Given the description of an element on the screen output the (x, y) to click on. 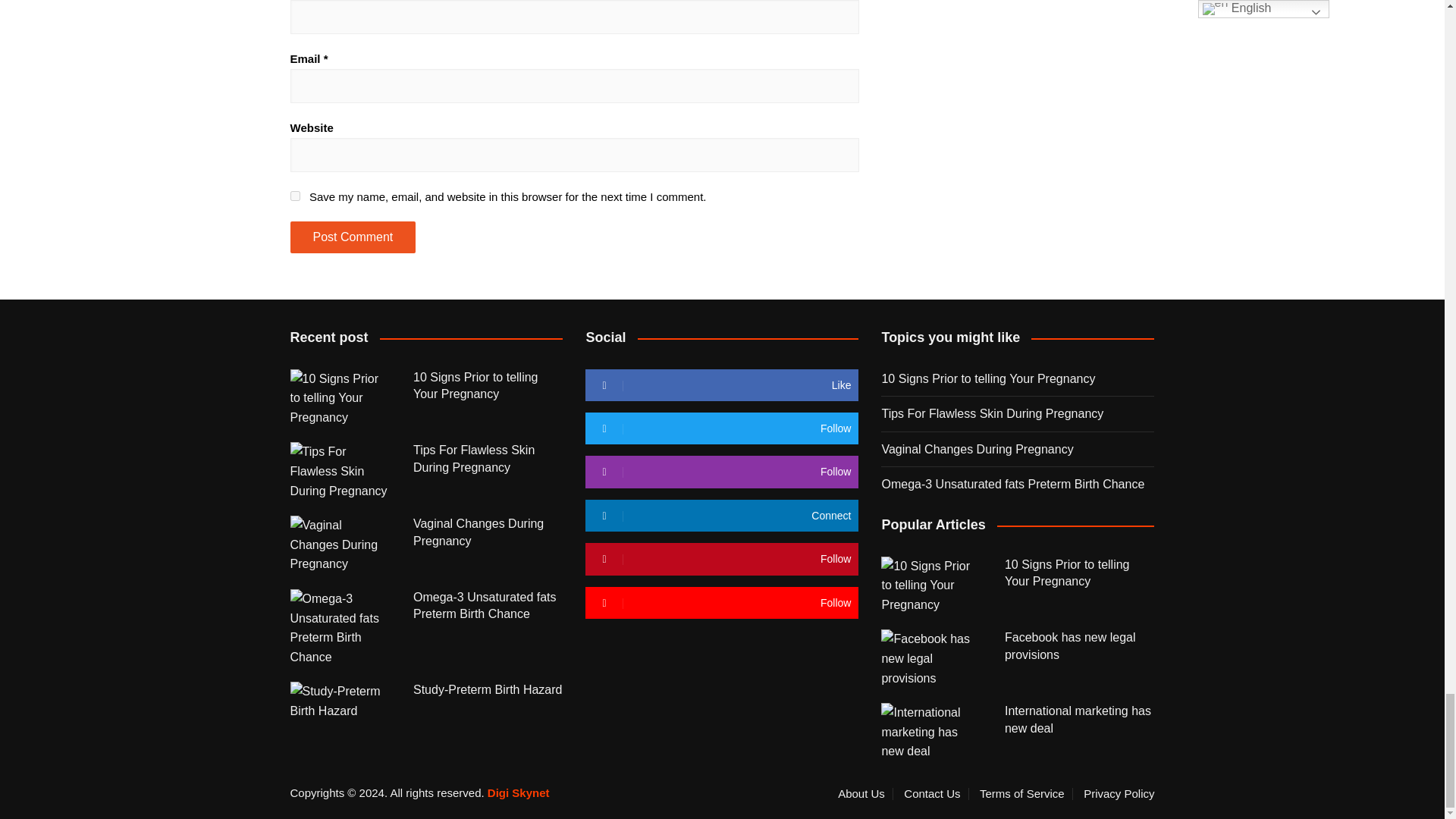
yes (294, 195)
Omega-3 Unsaturated fats Preterm Birth Chance (339, 627)
10 Signs Prior to telling Your Pregnancy (339, 398)
Vaginal Changes During Pregnancy (339, 544)
Post Comment (351, 237)
Tips For Flawless Skin During Pregnancy (339, 471)
